Given the description of an element on the screen output the (x, y) to click on. 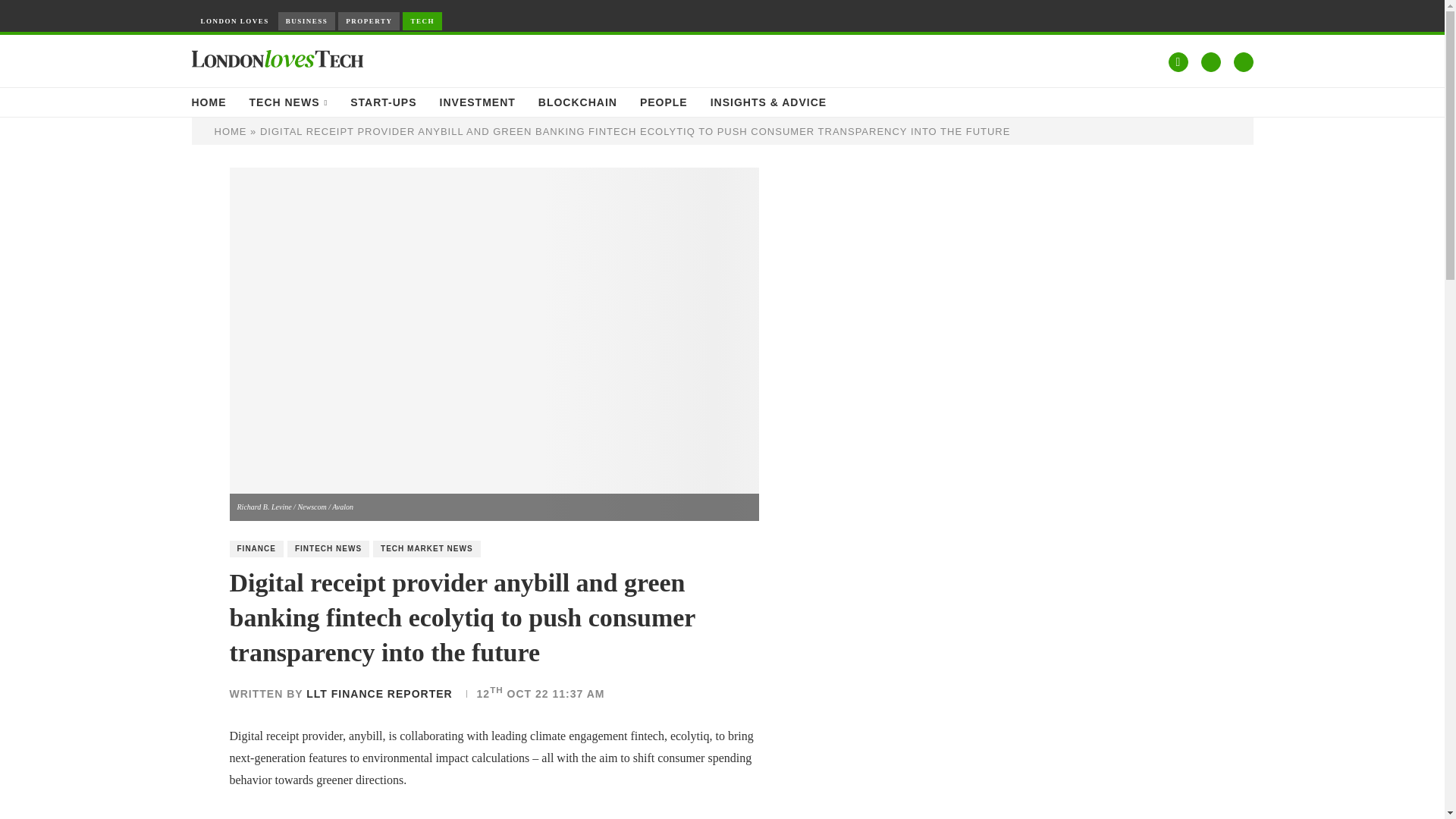
LONDON LOVES (234, 21)
TECH NEWS (287, 102)
PEOPLE (663, 102)
BUSINESS (307, 21)
PROPERTY (367, 21)
INVESTMENT (477, 102)
BLOCKCHAIN (577, 102)
TECH (422, 21)
START-UPS (383, 102)
